Given the description of an element on the screen output the (x, y) to click on. 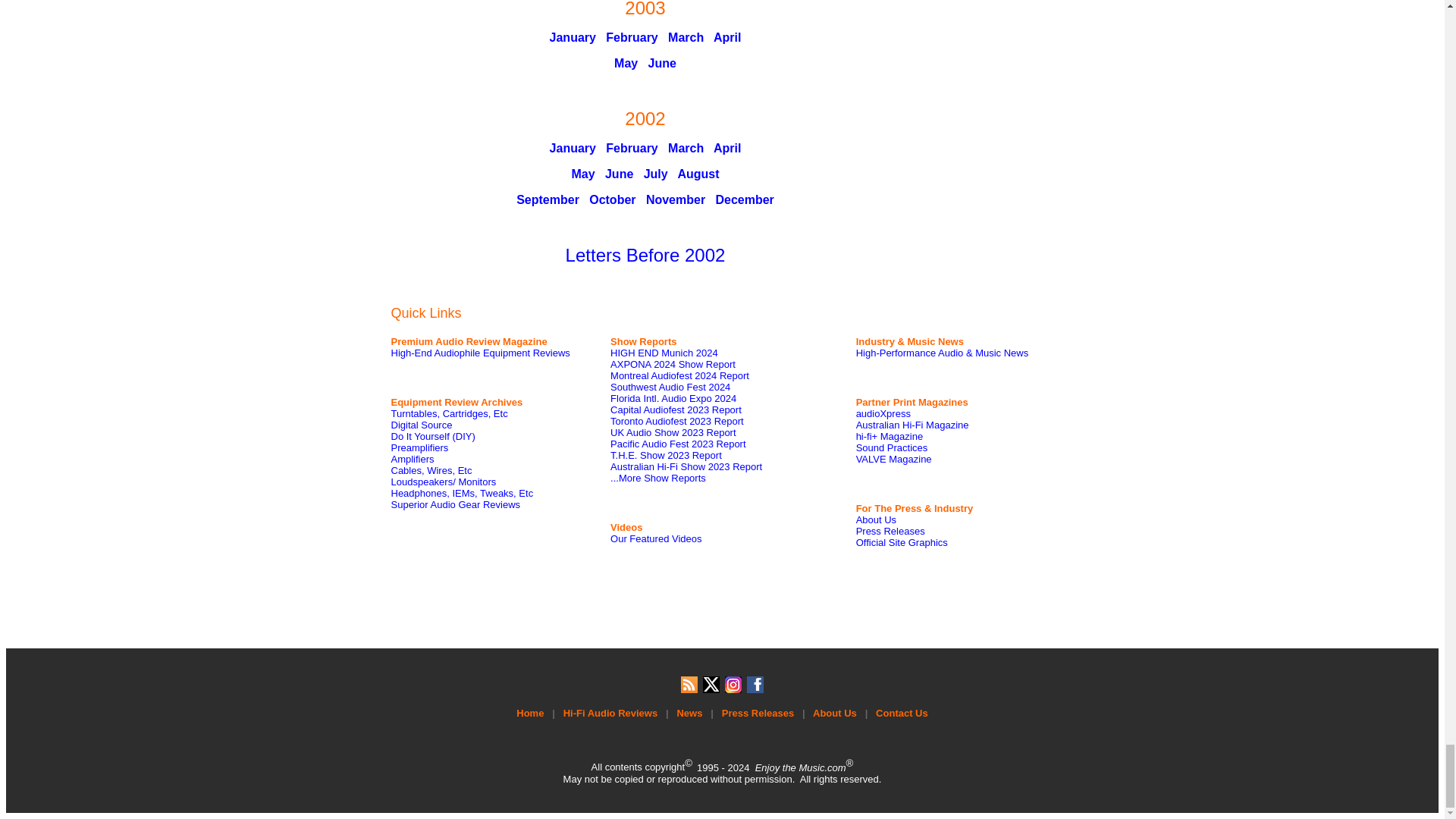
October (611, 199)
May (582, 173)
February (631, 37)
Amplifiers (412, 459)
June (619, 173)
High-End Audiophile Equipment Reviews (480, 352)
July (655, 173)
Digital Source (421, 424)
April (727, 37)
April (727, 147)
Turntables, Cartridges, Etc (449, 413)
Cables, Wires, Etc (431, 470)
January   February   March (627, 147)
August (698, 173)
January (572, 37)
